Given the description of an element on the screen output the (x, y) to click on. 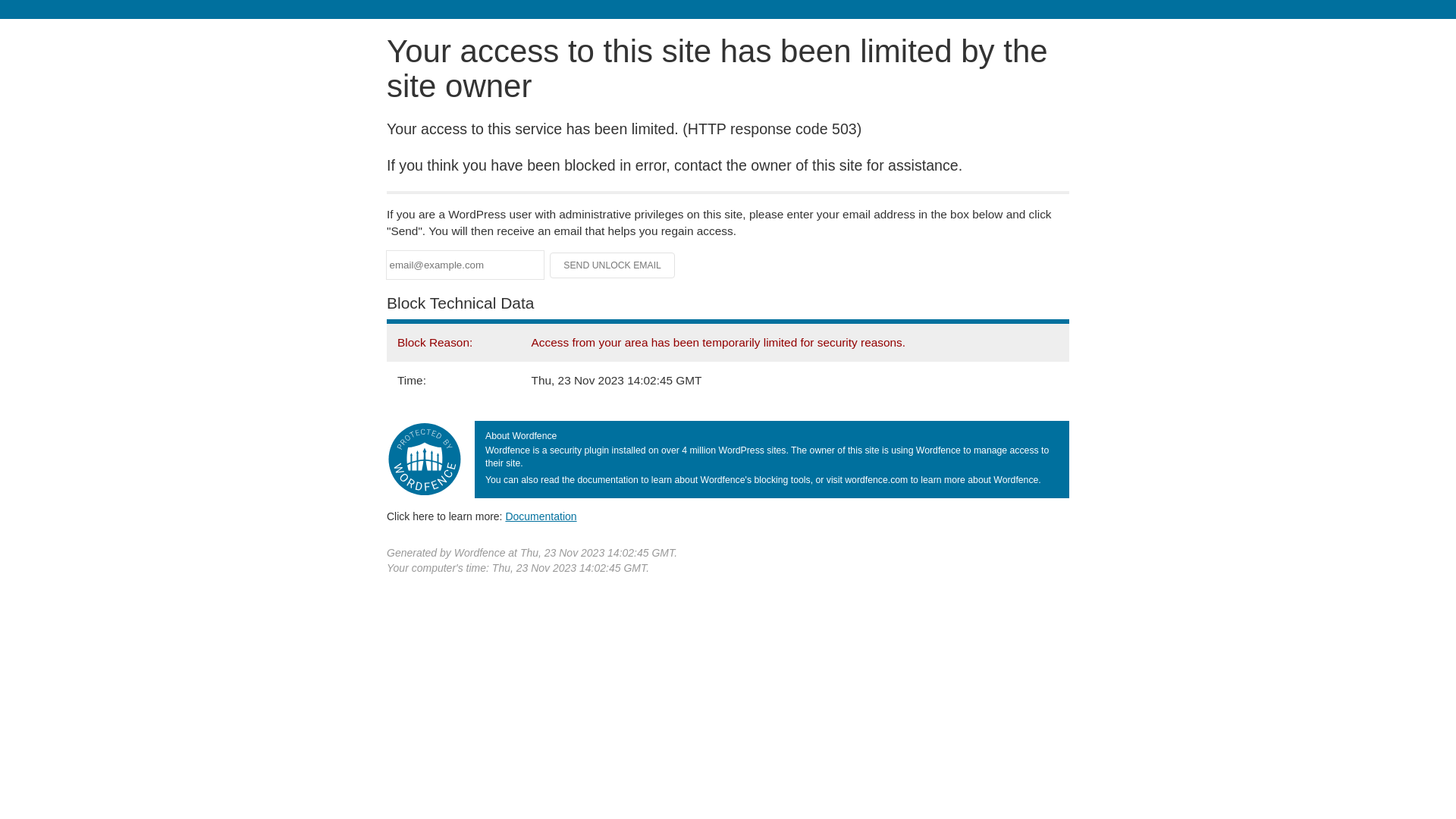
Send Unlock Email Element type: text (612, 265)
Documentation Element type: text (540, 516)
